Given the description of an element on the screen output the (x, y) to click on. 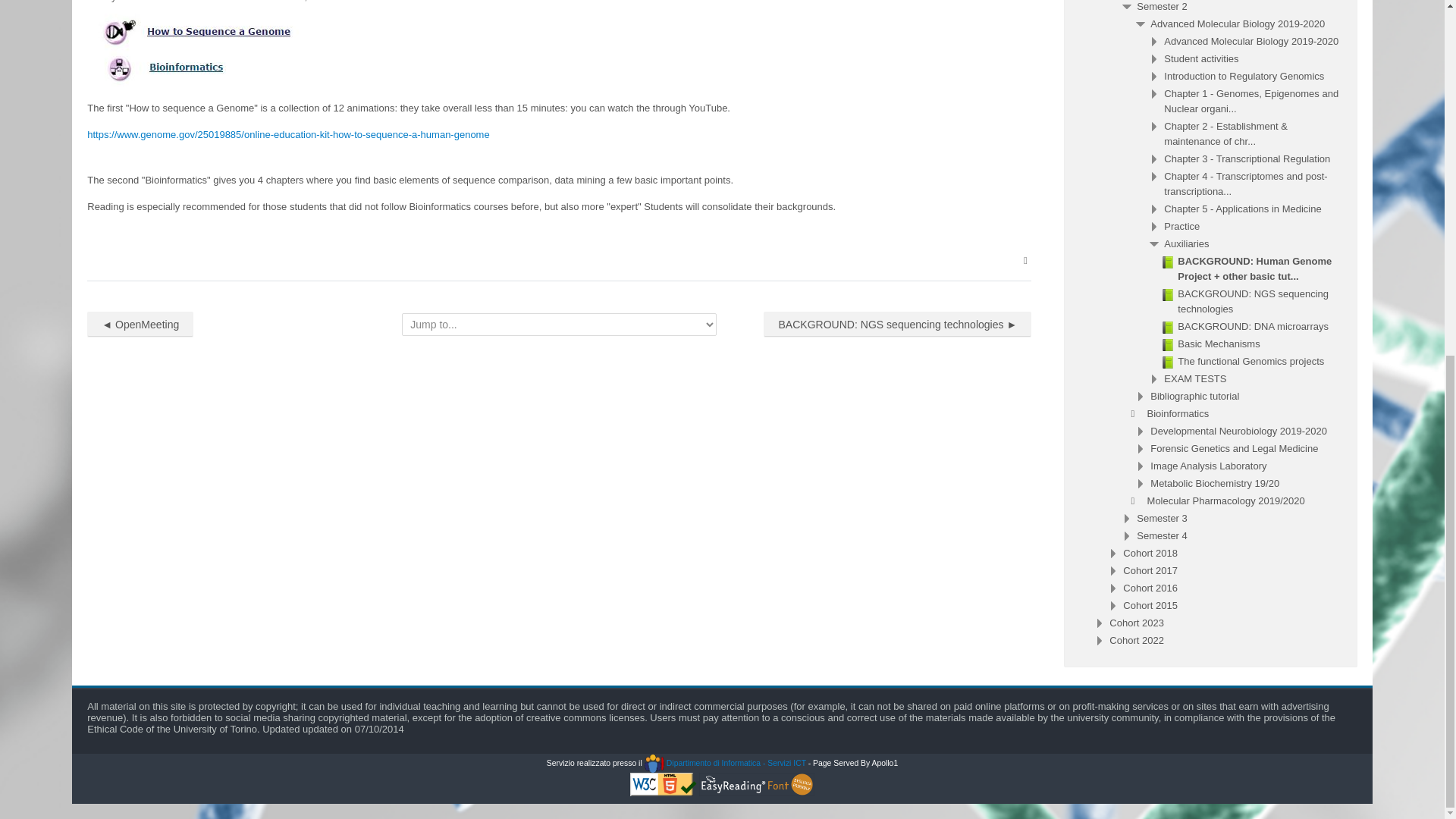
Book (1244, 301)
Book (1167, 262)
Book (1167, 295)
Book (1246, 268)
Advanced Molecular Biology 2019-2020 (1237, 23)
